Given the description of an element on the screen output the (x, y) to click on. 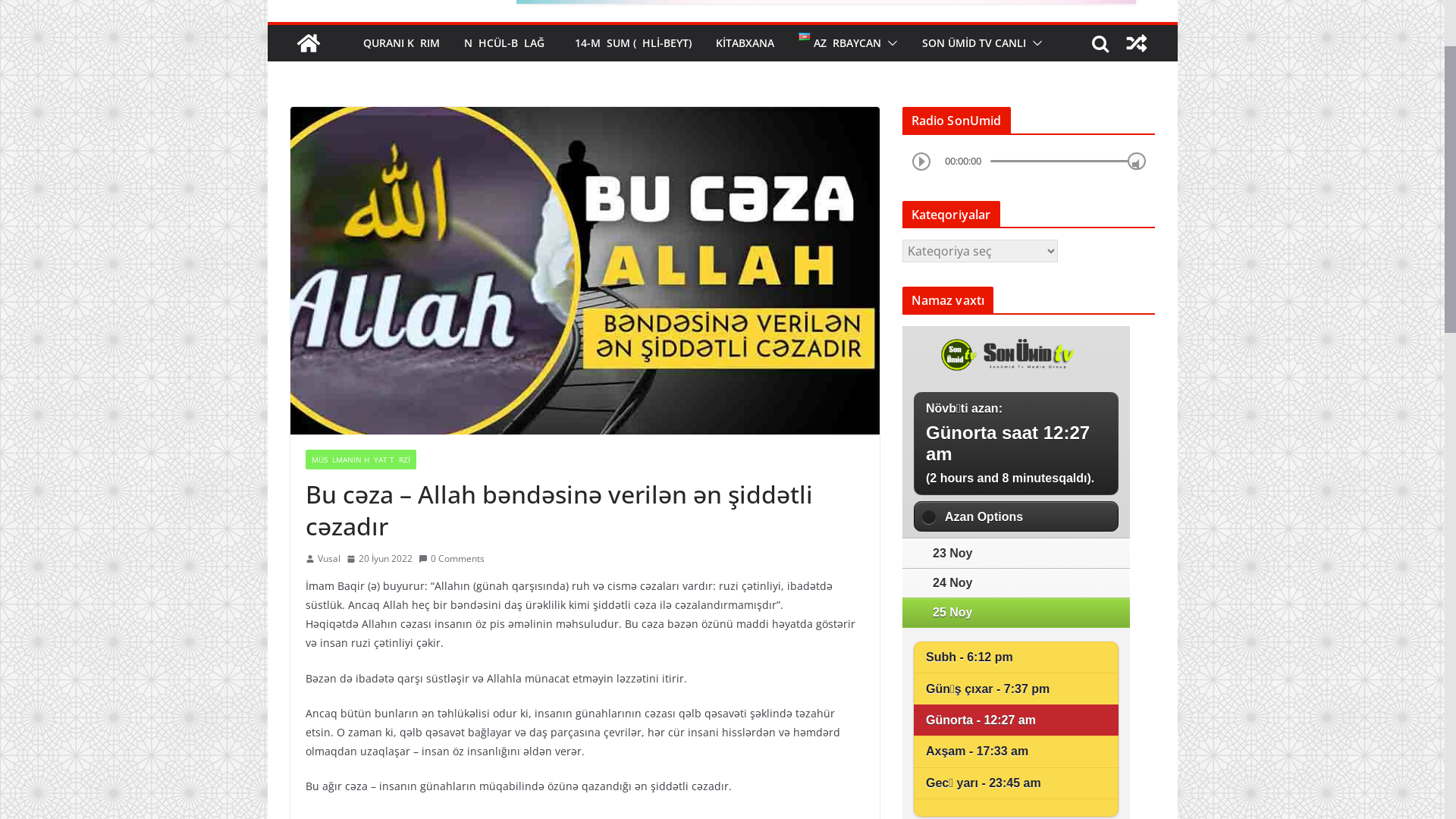
0 Comments Element type: text (451, 691)
Skip to content Element type: text (266, 6)
Vusal Element type: text (327, 691)
View a random post Element type: hover (1135, 175)
SonUmidTV Element type: hover (307, 175)
